Given the description of an element on the screen output the (x, y) to click on. 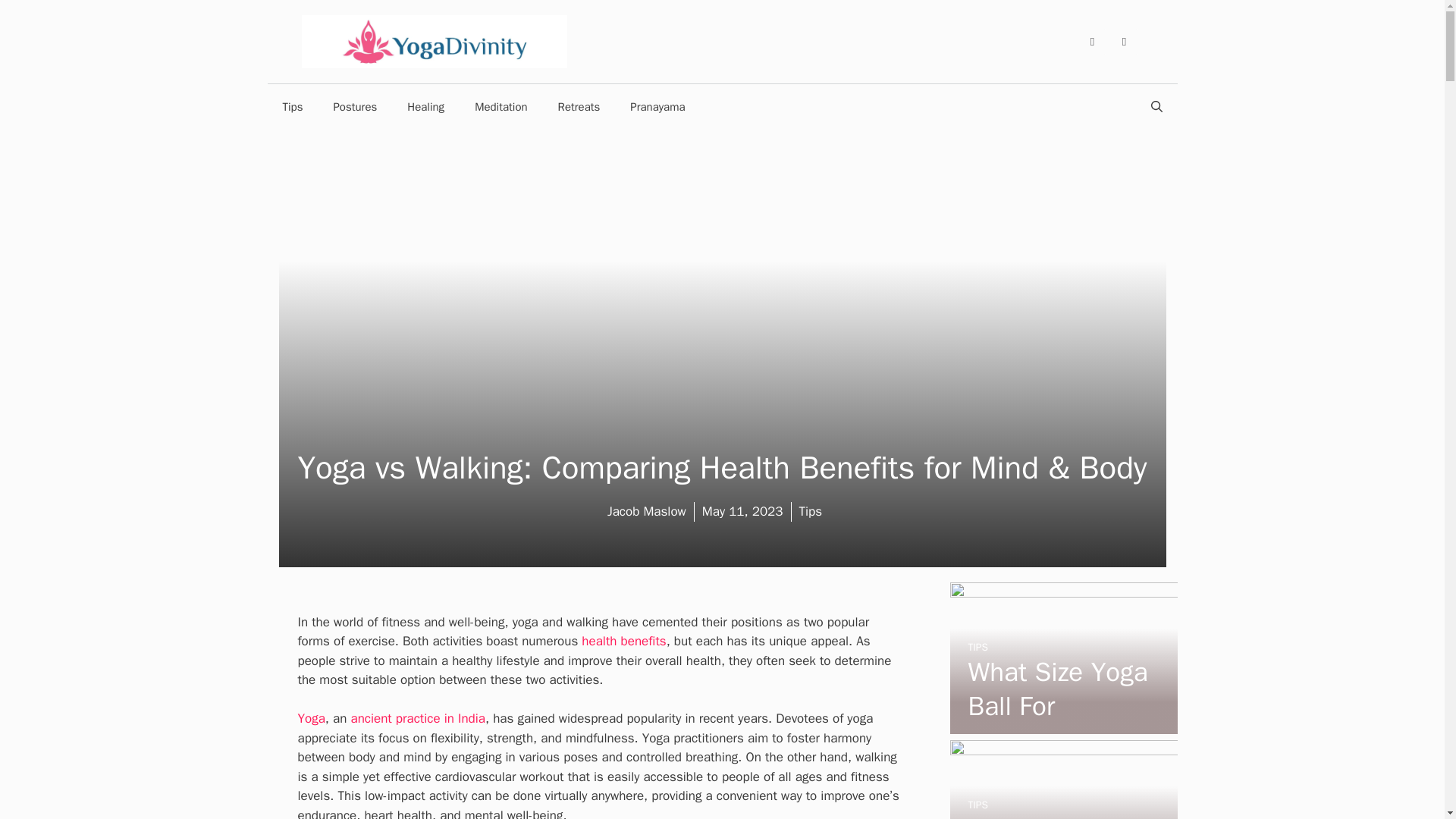
health benefits (622, 641)
Facebook (1092, 41)
Retreats (579, 106)
Pranayama (657, 106)
Yoga (310, 718)
Yoga Divinity (434, 40)
Meditation (500, 106)
ancient practice in India (417, 718)
TIPS (977, 646)
Postures (354, 106)
Yoga Divinity (434, 41)
Yoga (310, 718)
What Size Yoga Ball For Pregnancy? Choosing The Right Fit (1062, 723)
How To Use A Yoga Mat Strap: Easy Step-by-Step Guide (1061, 816)
What Size Yoga Ball For Pregnancy? Choosing The Right Fit (1057, 737)
